Given the description of an element on the screen output the (x, y) to click on. 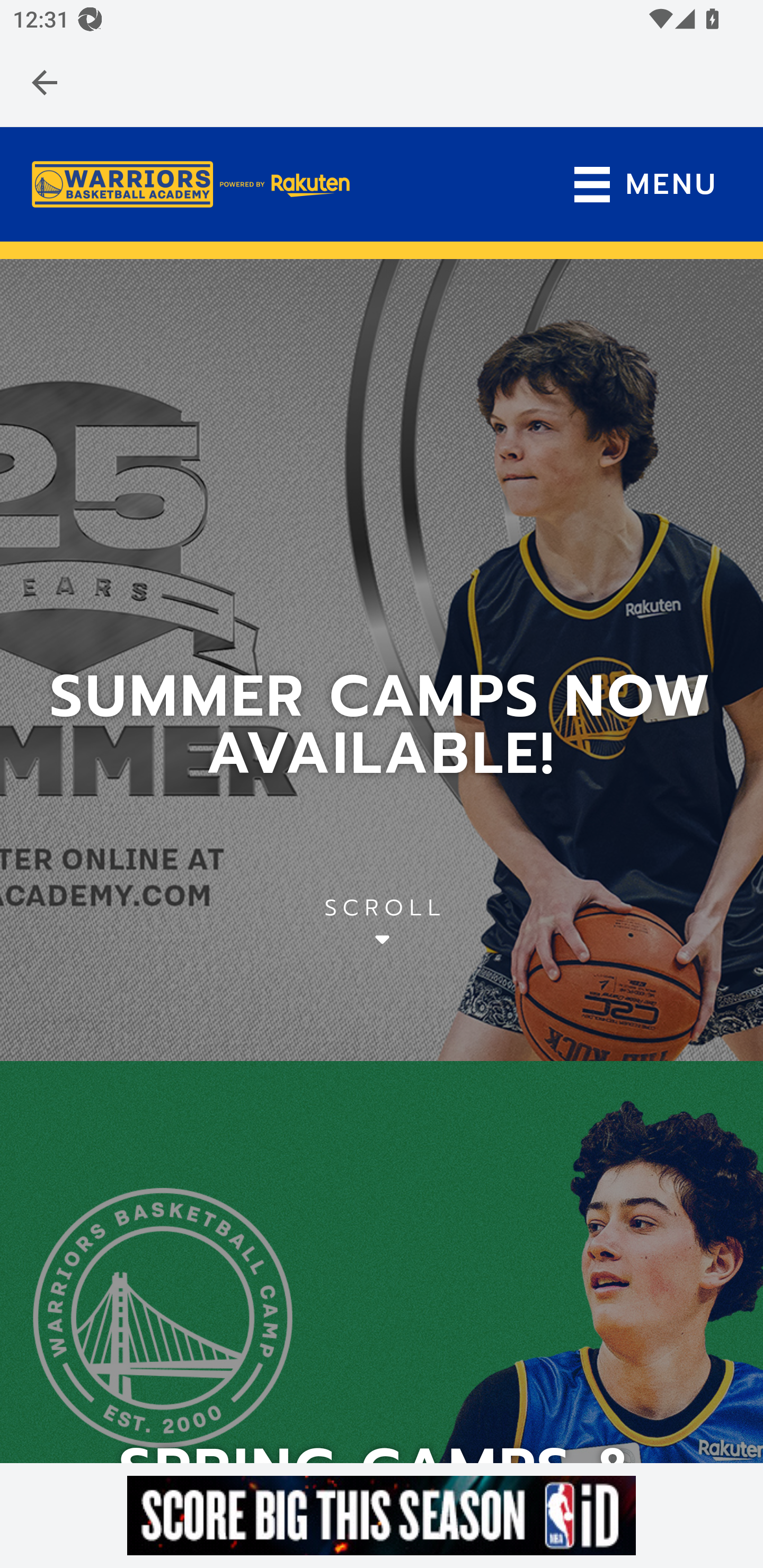
Navigate up (44, 82)
uabb-menu-toggleMENU (645, 184)
WBA_Horizontal_Full_Color_Yellow (190, 183)
SUMMER CAMPS NOW AVAILABLE! (381, 725)
